Given the description of an element on the screen output the (x, y) to click on. 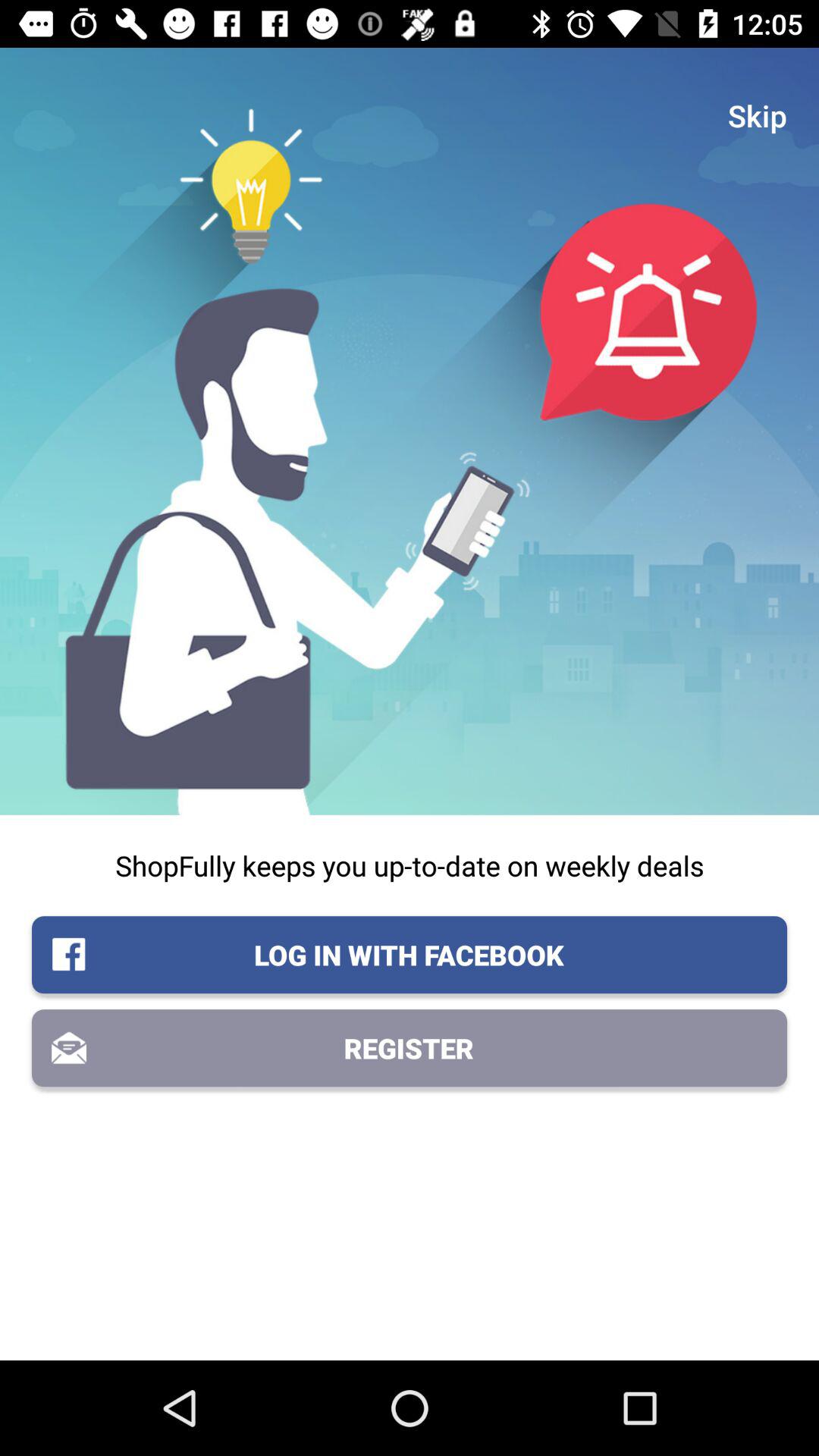
turn on shopfully keeps you icon (409, 865)
